Given the description of an element on the screen output the (x, y) to click on. 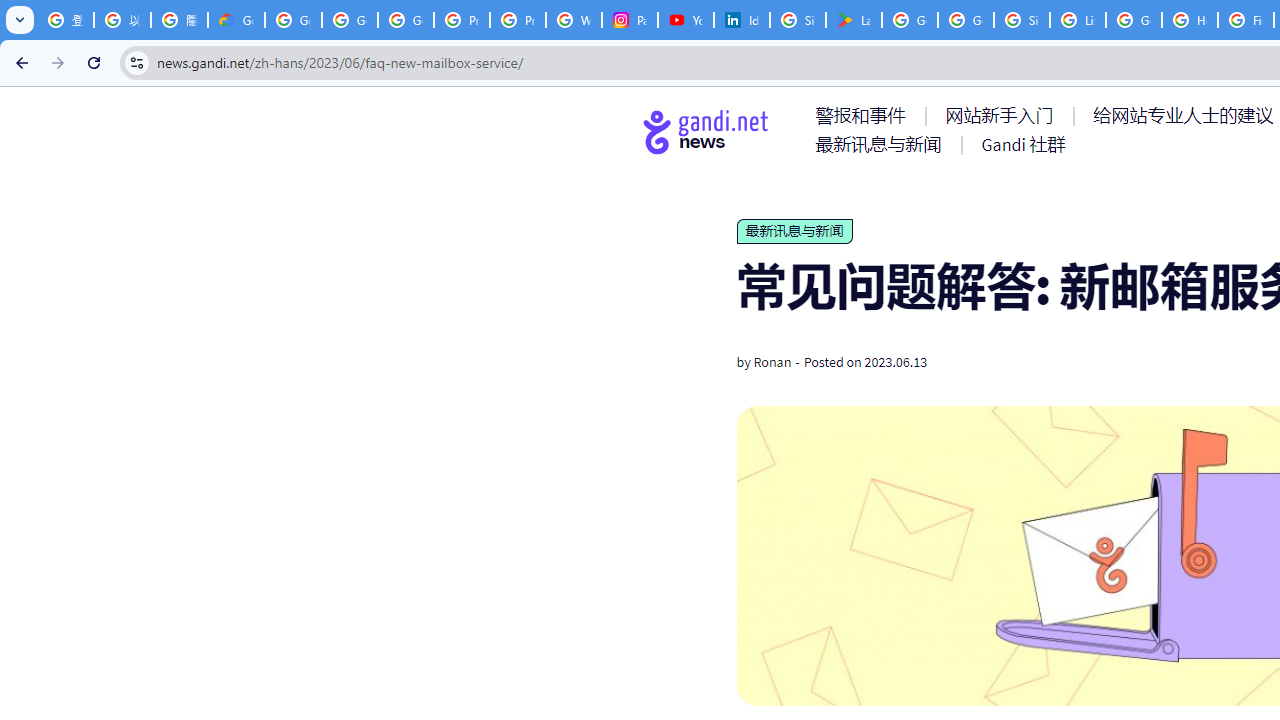
Privacy Help Center - Policies Help (518, 20)
AutomationID: menu-item-77762 (1003, 115)
Go to home (706, 131)
Google Workspace - Specific Terms (966, 20)
YouTube Culture & Trends - On The Rise: Handcam Videos (685, 20)
